Given the description of an element on the screen output the (x, y) to click on. 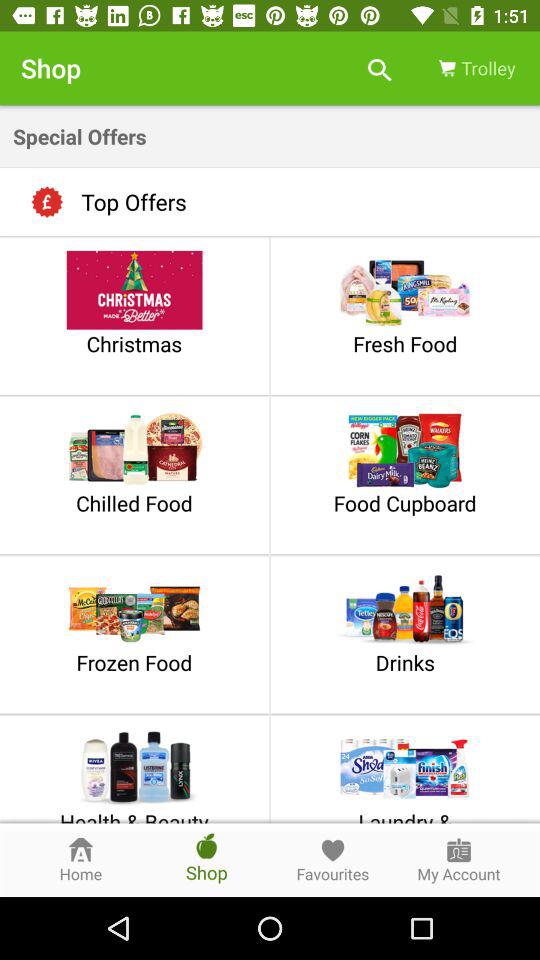
open the icon above the special offers icon (379, 67)
